Given the description of an element on the screen output the (x, y) to click on. 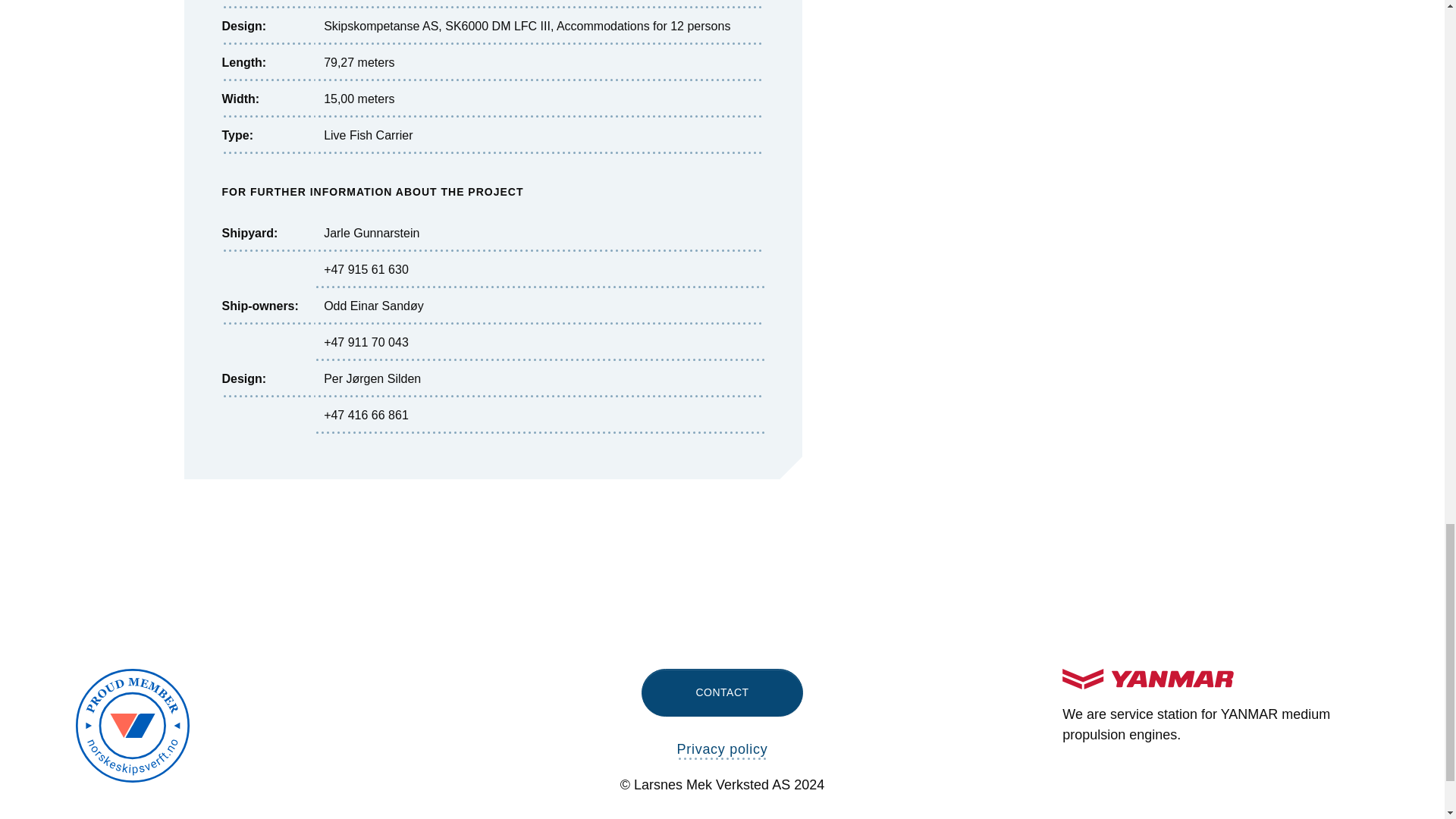
CONTACT (722, 692)
Privacy policy (722, 751)
